Given the description of an element on the screen output the (x, y) to click on. 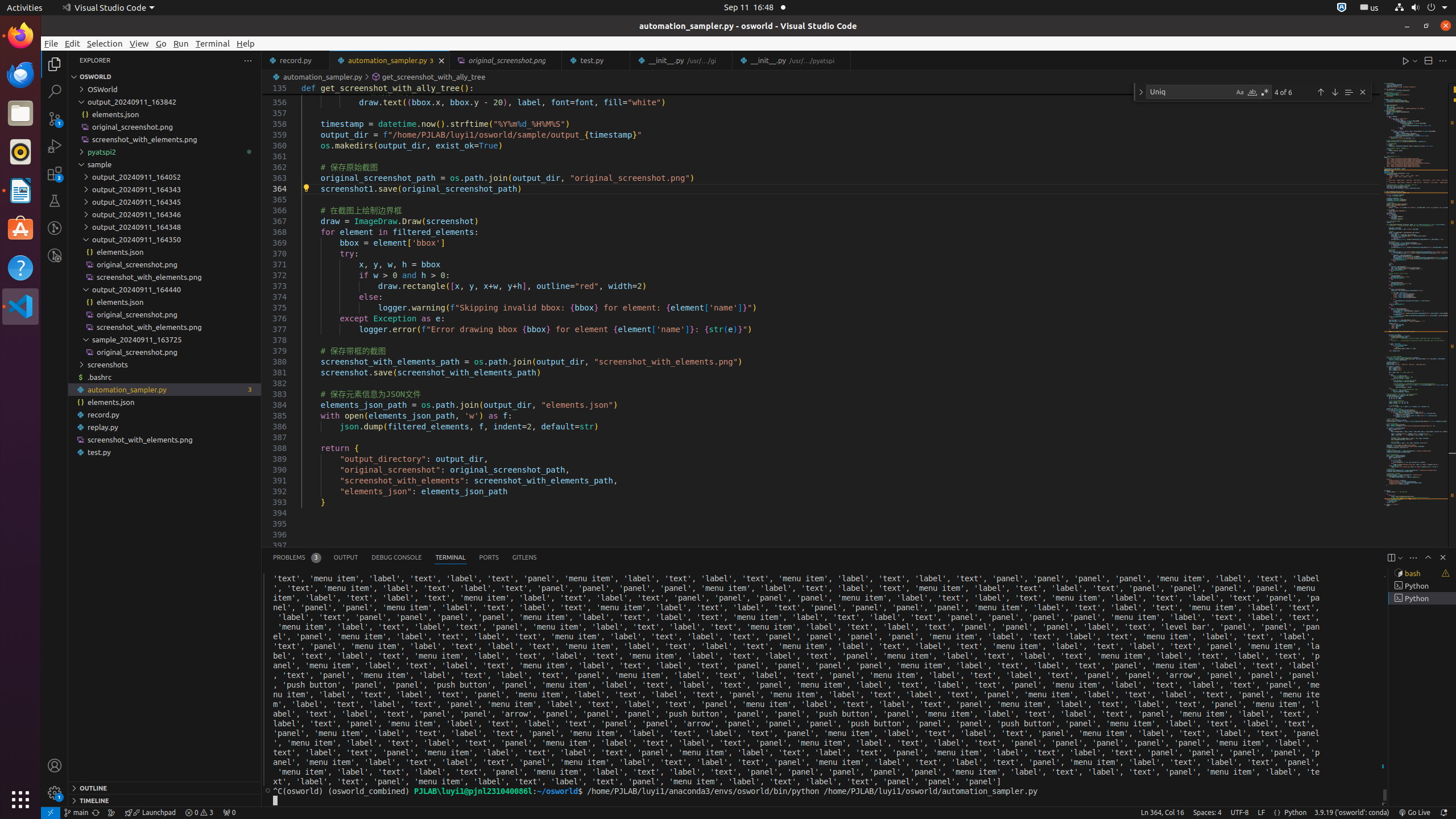
sample_20240911_163725 Element type: tree-item (164, 339)
elements.json Element type: tree-item (164, 401)
UTF-8 Element type: push-button (1239, 812)
Close (Escape) Element type: push-button (1362, 91)
Source Control (Ctrl+Shift+G G) - 1 pending changes Element type: page-tab (54, 118)
